Given the description of an element on the screen output the (x, y) to click on. 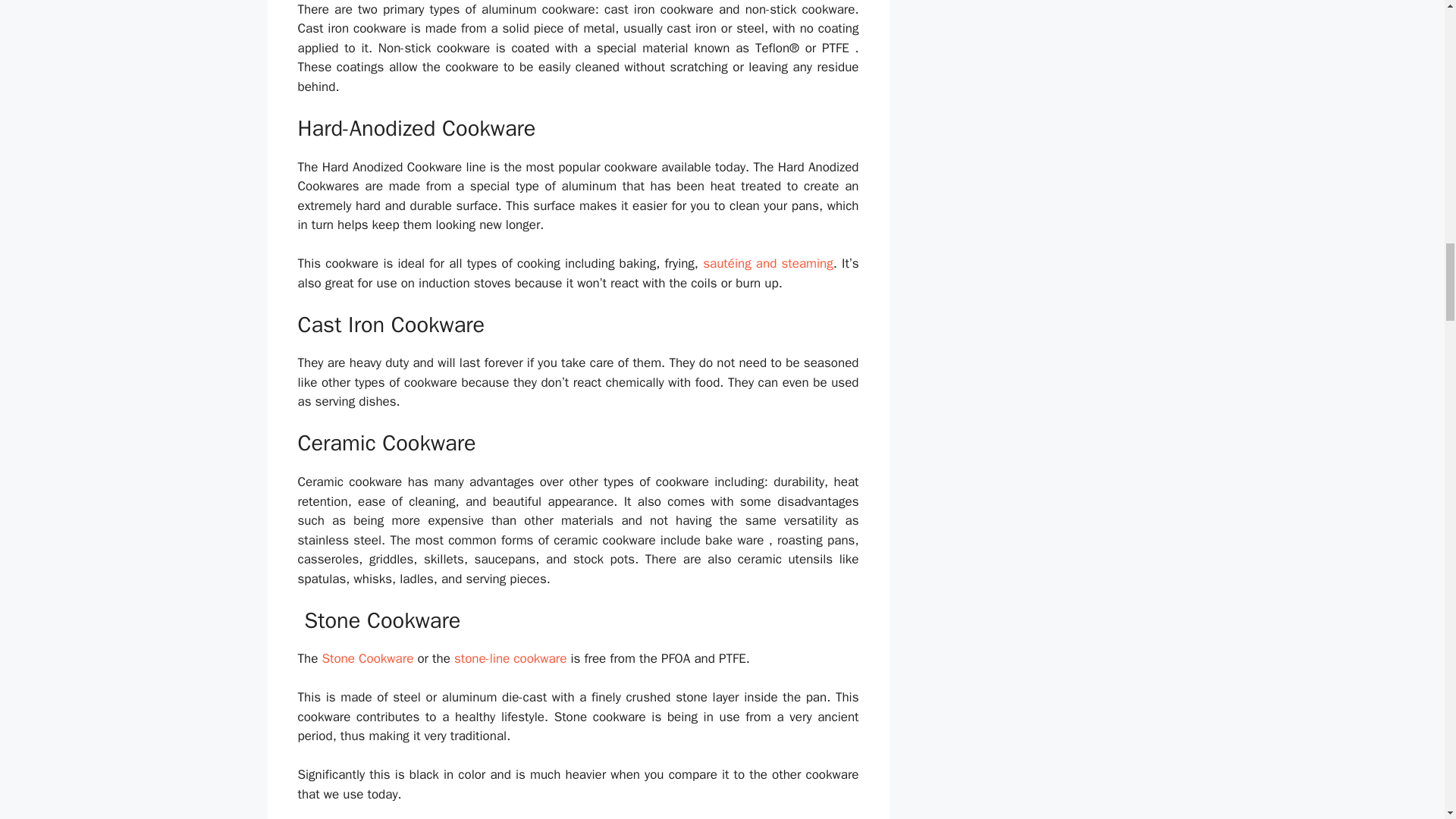
stone-line cookware (510, 658)
Stone Cookware (367, 658)
